Given the description of an element on the screen output the (x, y) to click on. 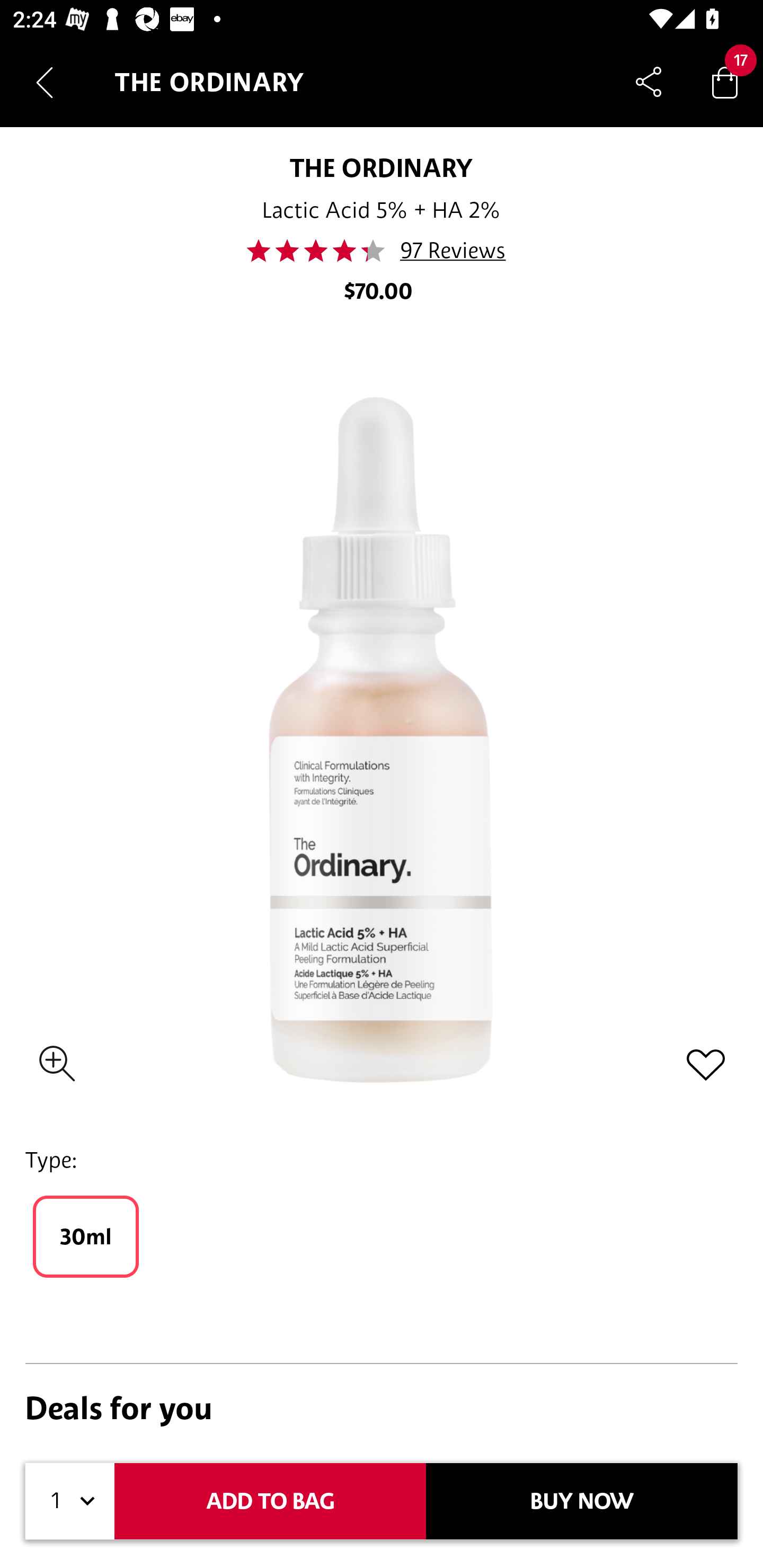
Navigate up (44, 82)
Share (648, 81)
Bag (724, 81)
THE ORDINARY (381, 167)
43.0 97 Reviews (381, 250)
30ml (85, 1235)
1 (69, 1500)
ADD TO BAG (269, 1500)
BUY NOW (581, 1500)
